Given the description of an element on the screen output the (x, y) to click on. 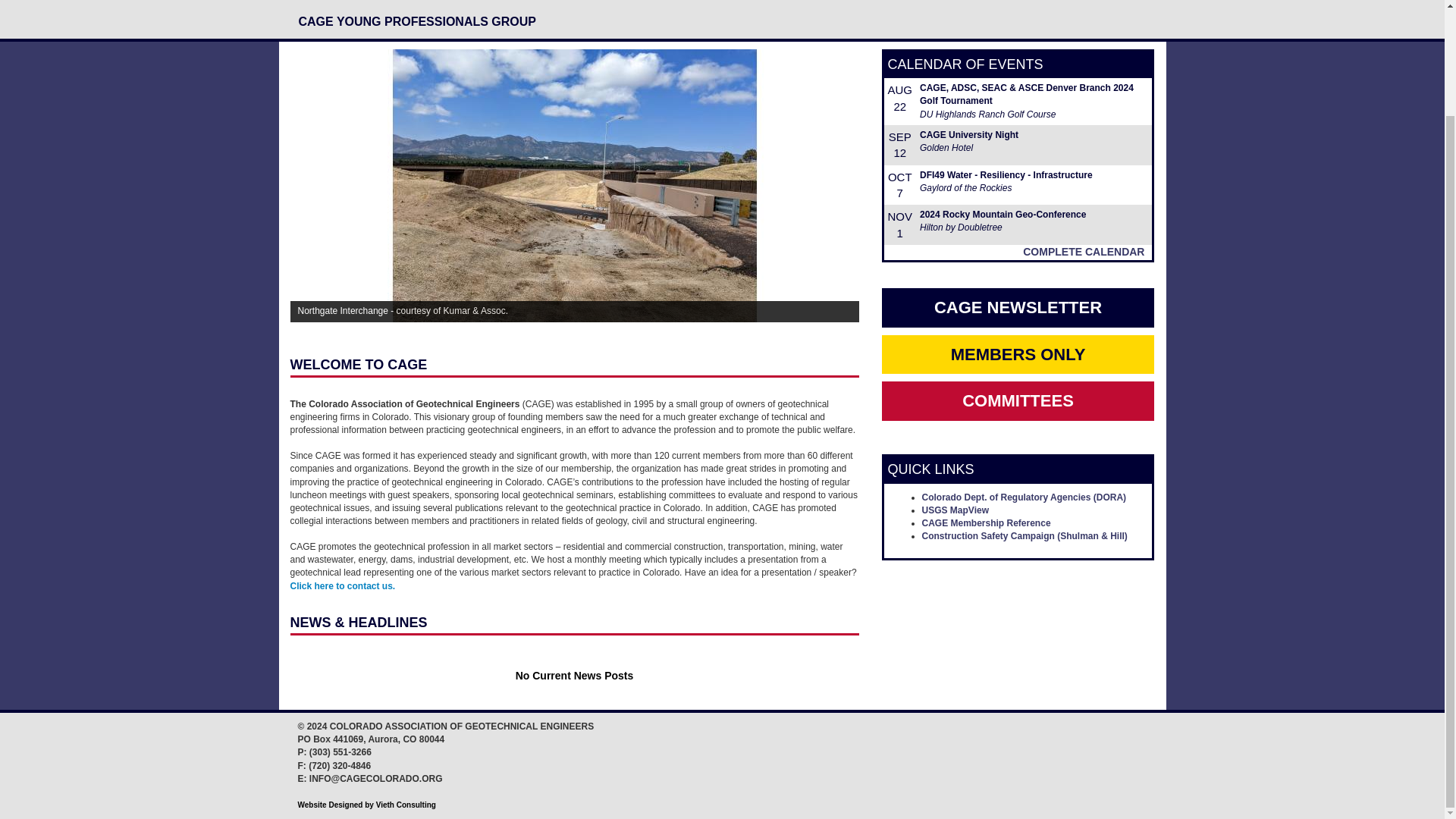
COMMITTEES (732, 5)
HOME (316, 5)
PUBLICATIONS (631, 5)
CAGE YOUNG PROFESSIONALS GROUP (417, 24)
LINKS (805, 5)
ABOUT US (385, 5)
MEMBERSHIP (883, 5)
